Given the description of an element on the screen output the (x, y) to click on. 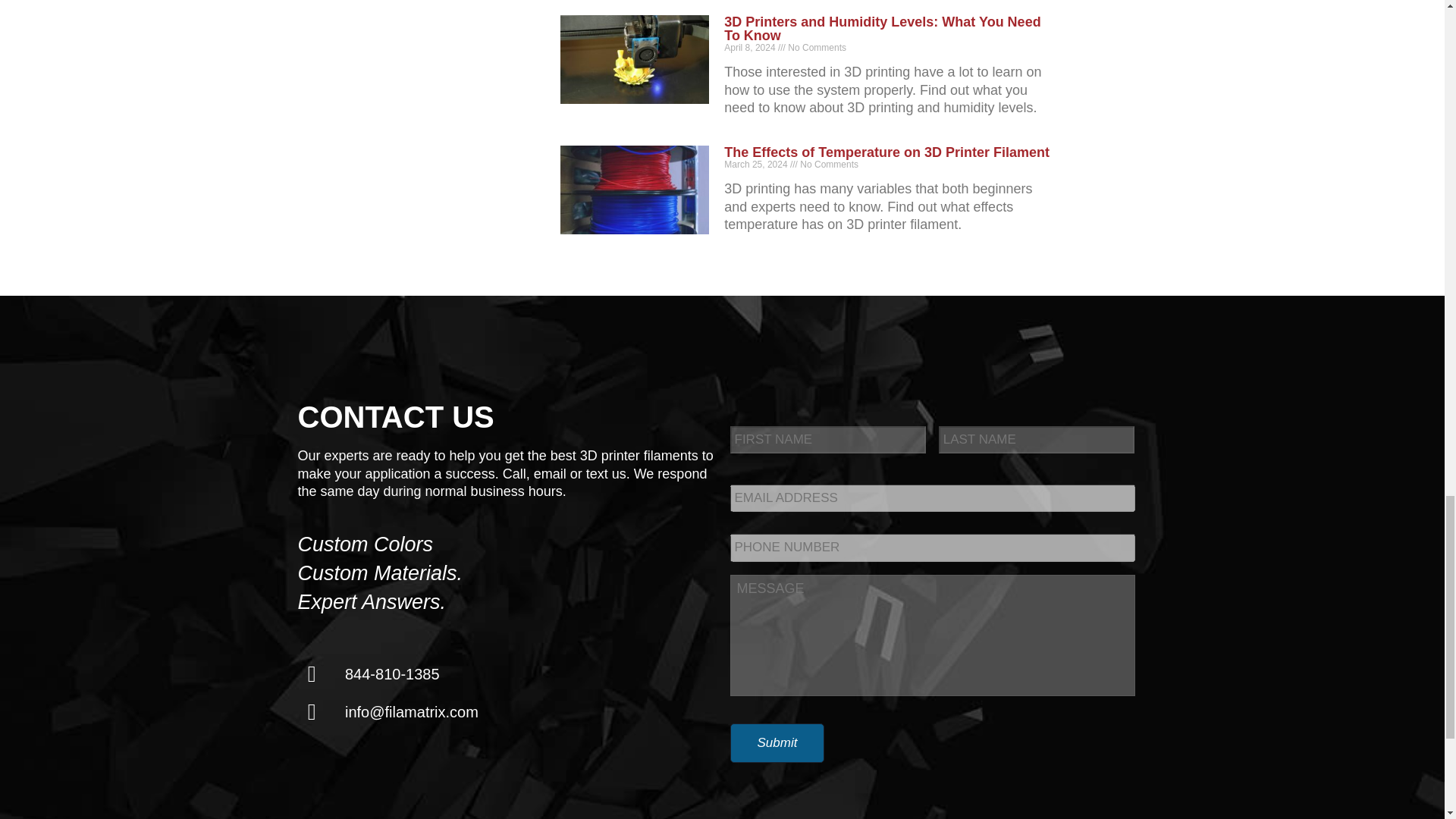
Submit (776, 742)
